Given the description of an element on the screen output the (x, y) to click on. 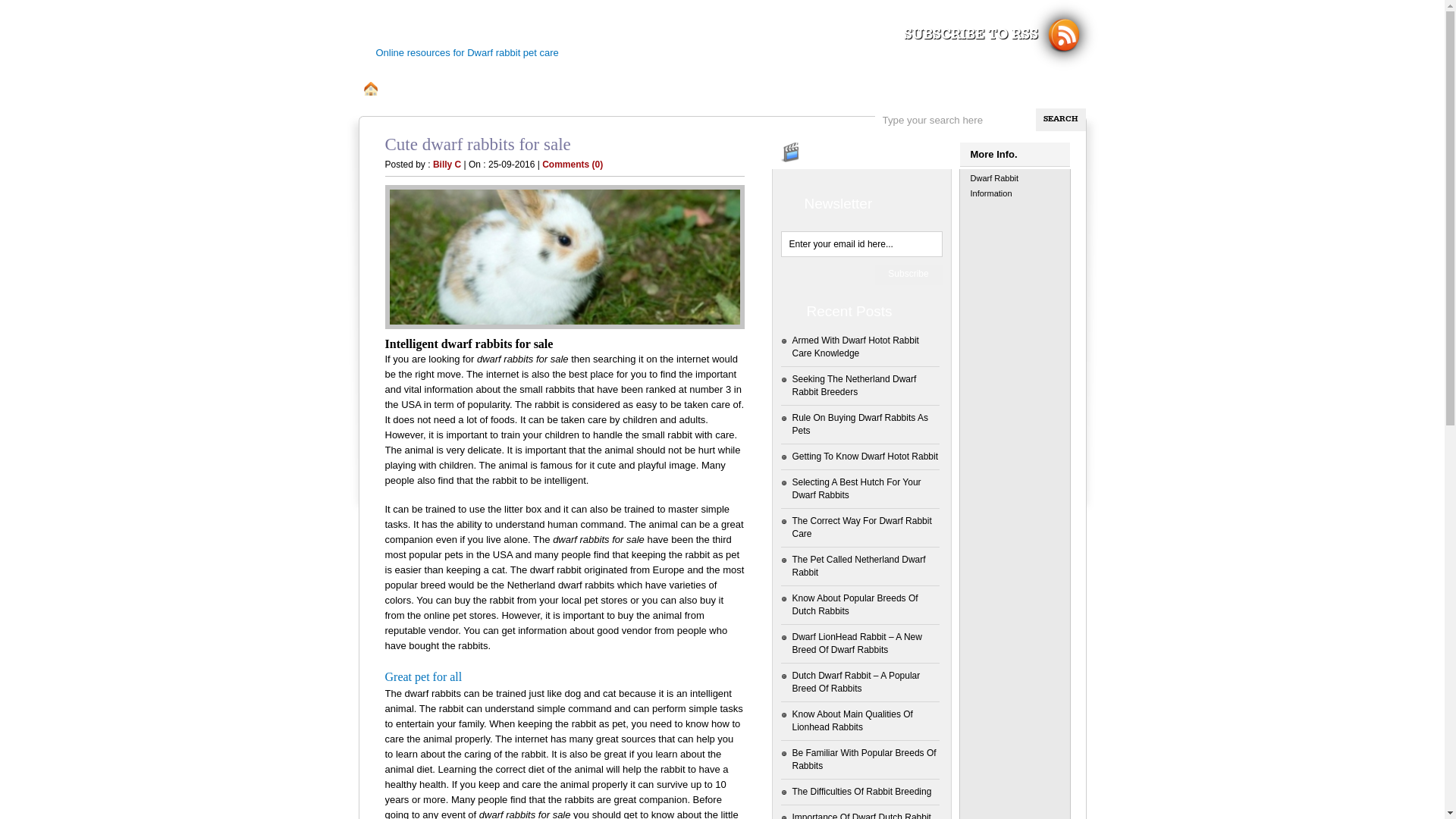
Selecting A Best Hutch For Your Dwarf Rabbits Element type: text (855, 488)
Cute dwarf rabbits for sale Element type: text (478, 143)
RSS Element type: text (1069, 35)
Comments (0) Element type: text (572, 164)
The Pet Called Netherland Dwarf Rabbit Element type: text (858, 565)
Getting To Know Dwarf Hotot Rabbit Element type: text (864, 456)
Billy C Element type: text (447, 164)
The Correct Way For Dwarf Rabbit Care Element type: text (861, 527)
Search Element type: text (1060, 119)
Dwarf Rabbit Information Element type: text (994, 185)
Subscribe Element type: text (908, 274)
Rule On Buying Dwarf Rabbits As Pets Element type: text (859, 424)
Know About Main Qualities Of Lionhead Rabbits Element type: text (851, 720)
Seeking The Netherland Dwarf Rabbit Breeders Element type: text (853, 385)
Armed With Dwarf Hotot Rabbit Care Knowledge Element type: text (854, 346)
Cute dwarf rabbits for sale Element type: hover (564, 257)
CONTACT US Element type: text (426, 89)
Know About Popular Breeds Of Dutch Rabbits Element type: text (854, 604)
BEST DWARF RABBIT CARE Element type: text (604, 28)
Be Familiar With Popular Breeds Of Rabbits Element type: text (863, 759)
home Element type: text (370, 89)
The Difficulties Of Rabbit Breeding Element type: text (861, 791)
STORE Element type: text (631, 89)
RABBIT CARE VIDEOS Element type: text (535, 89)
KNOW ABOUT VARIOUS DWARF RABBIT BREEDS Element type: text (787, 89)
